Given the description of an element on the screen output the (x, y) to click on. 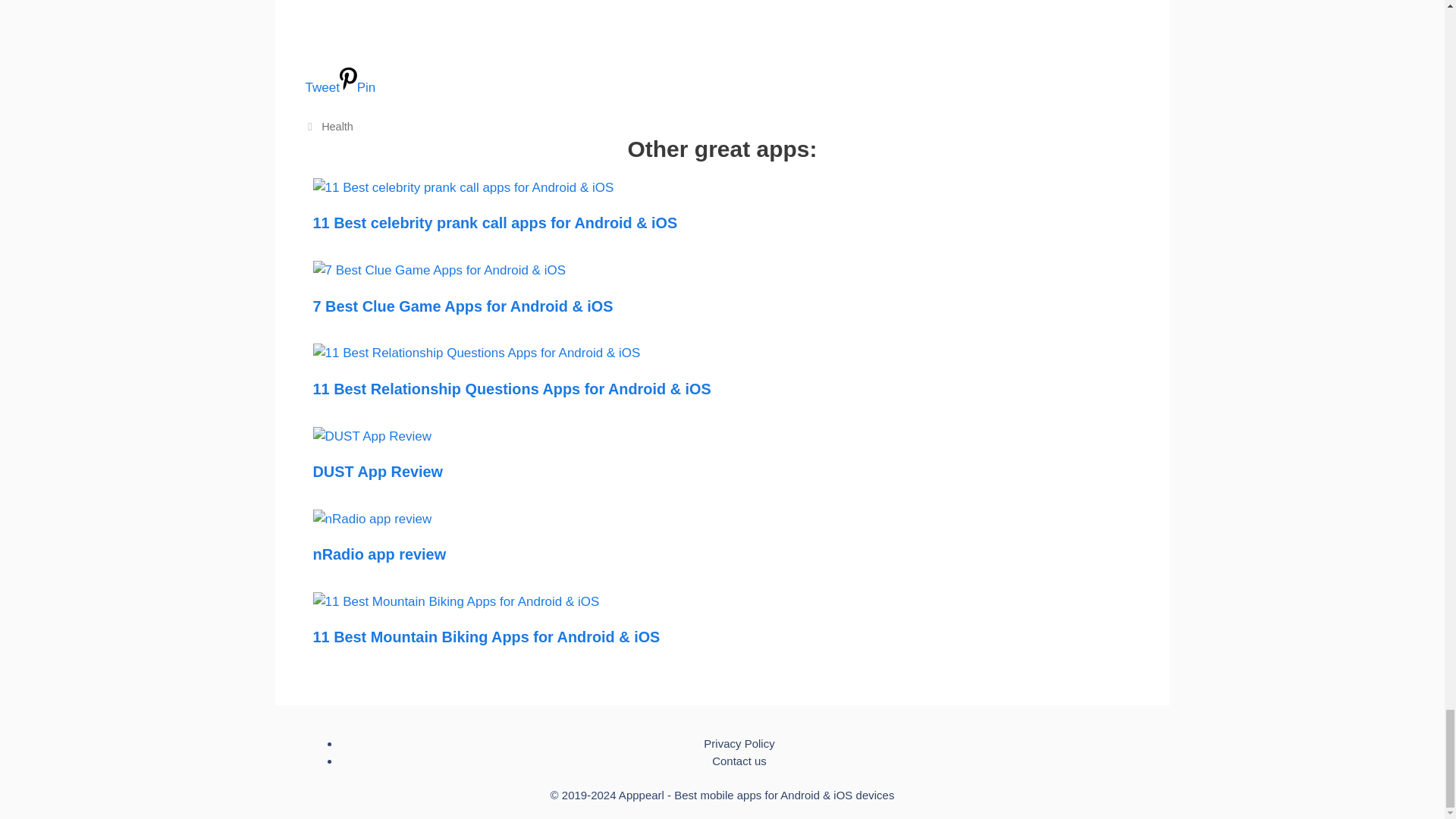
Share on Pinterest (357, 87)
nRadio app review (371, 518)
DUST App Review (371, 436)
Share on Twitter (721, 72)
